Given the description of an element on the screen output the (x, y) to click on. 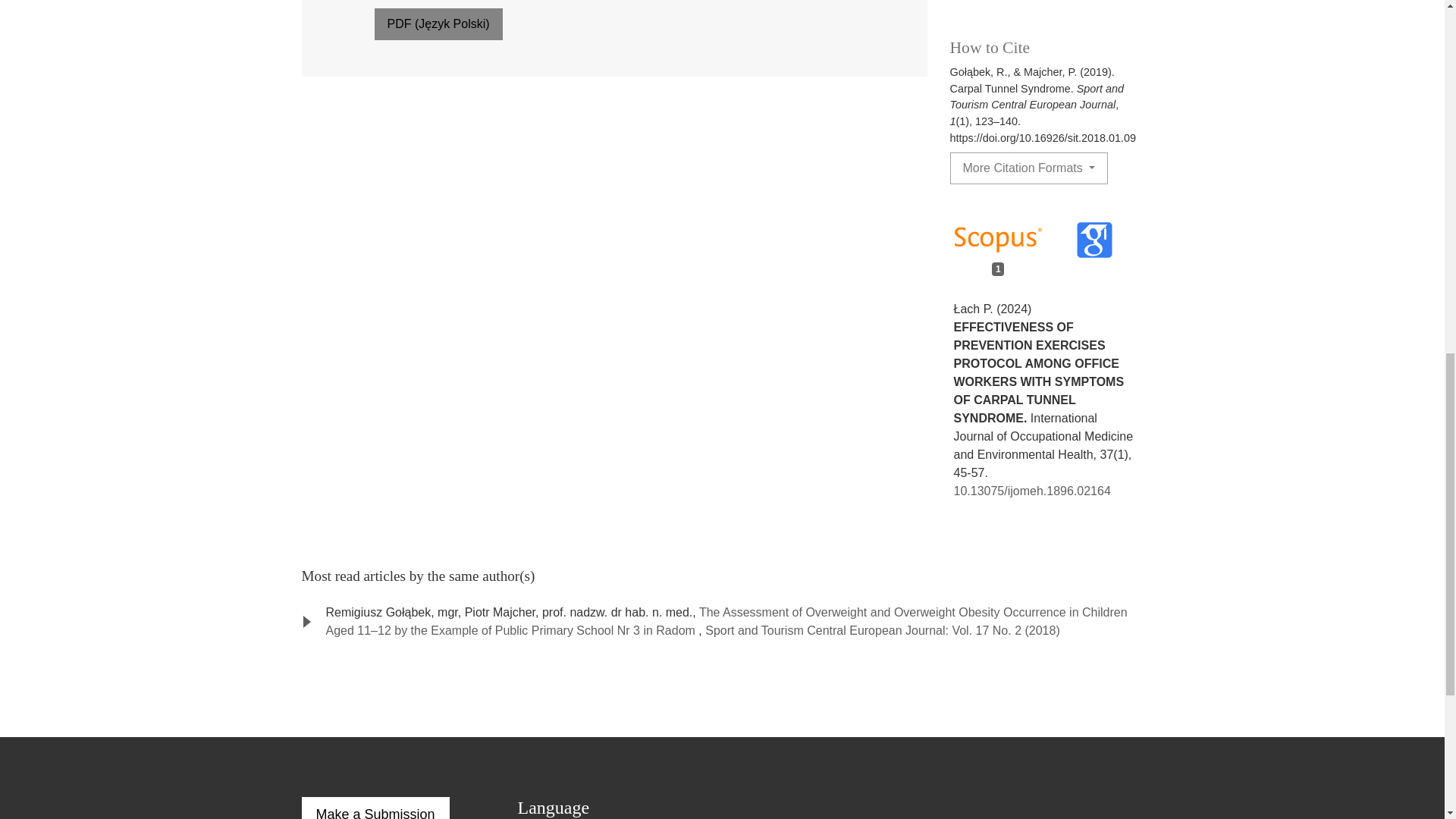
More Citation Formats (1028, 168)
